Given the description of an element on the screen output the (x, y) to click on. 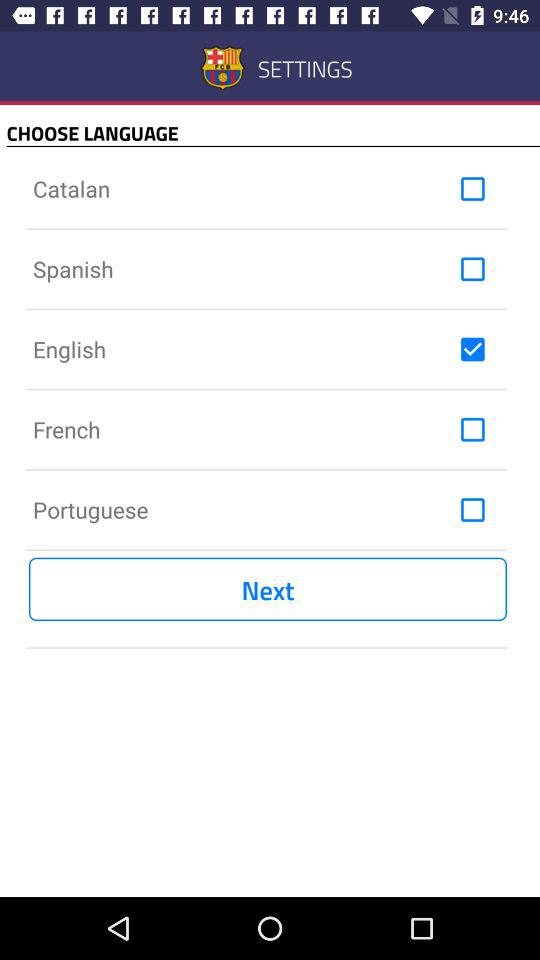
select spanish language (472, 269)
